Given the description of an element on the screen output the (x, y) to click on. 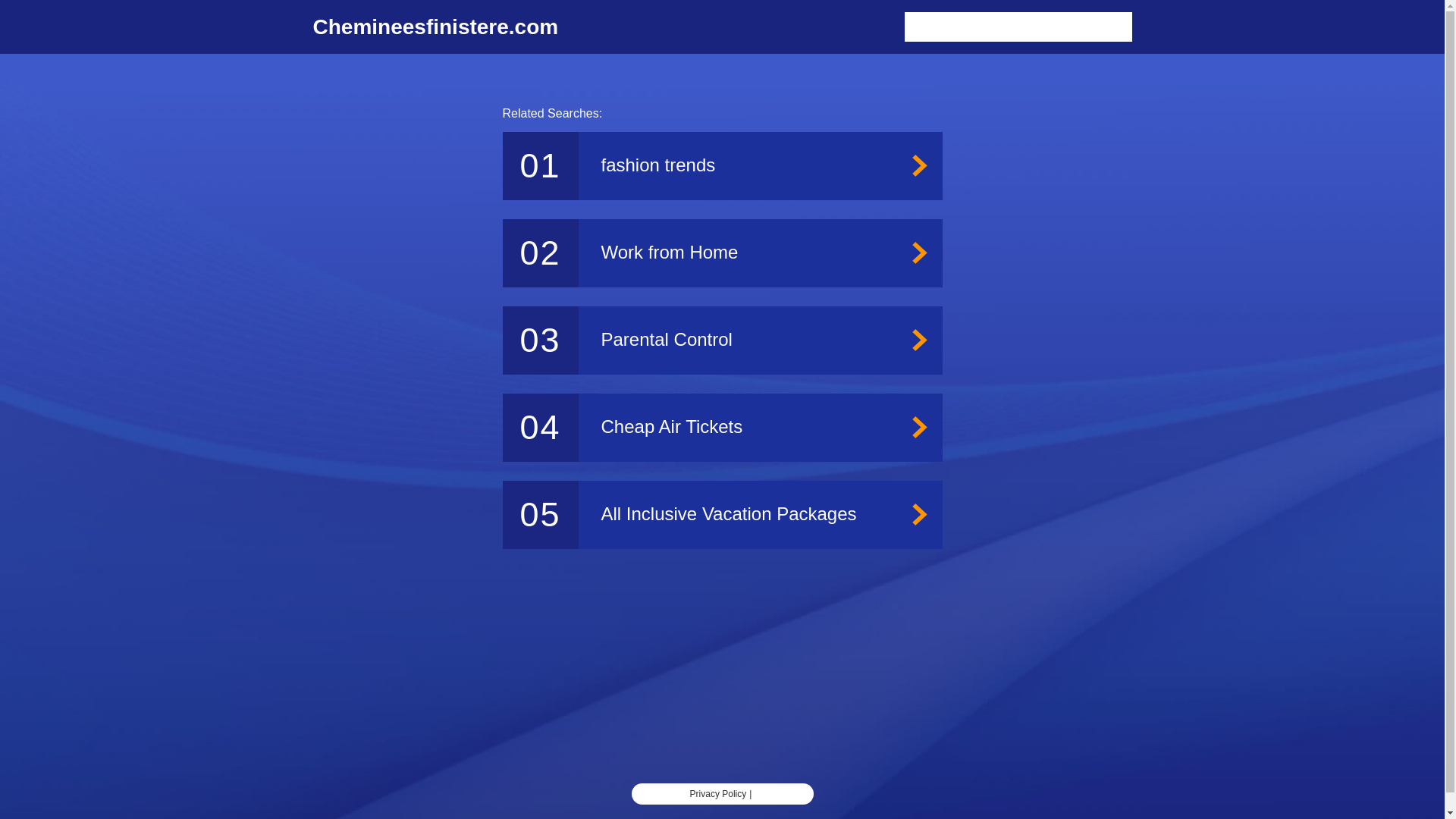
Work from Home (722, 253)
fashion trends (722, 165)
Work from Home (722, 253)
Parental Control (722, 340)
fashion trends (722, 165)
Cheap Air Tickets (722, 427)
Chemineesfinistere.com (435, 27)
Parental Control (722, 340)
Privacy Policy (718, 793)
Cheap Air Tickets (722, 427)
